Given the description of an element on the screen output the (x, y) to click on. 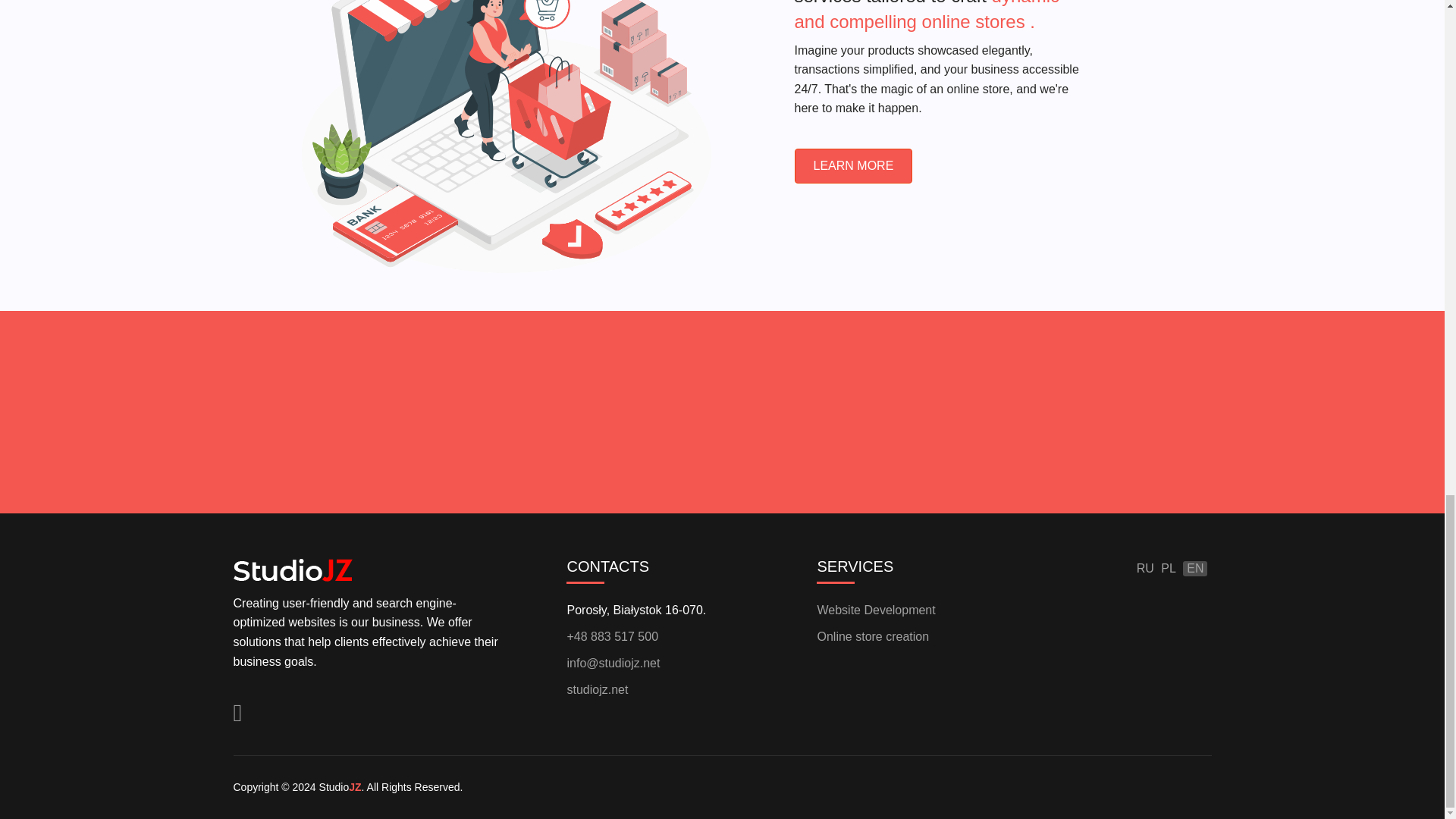
Online store creation (929, 636)
PL (1168, 568)
studiojz.net (679, 689)
LEARN MORE (853, 165)
Website Development (929, 609)
EN (1195, 568)
RU (1145, 568)
